Given the description of an element on the screen output the (x, y) to click on. 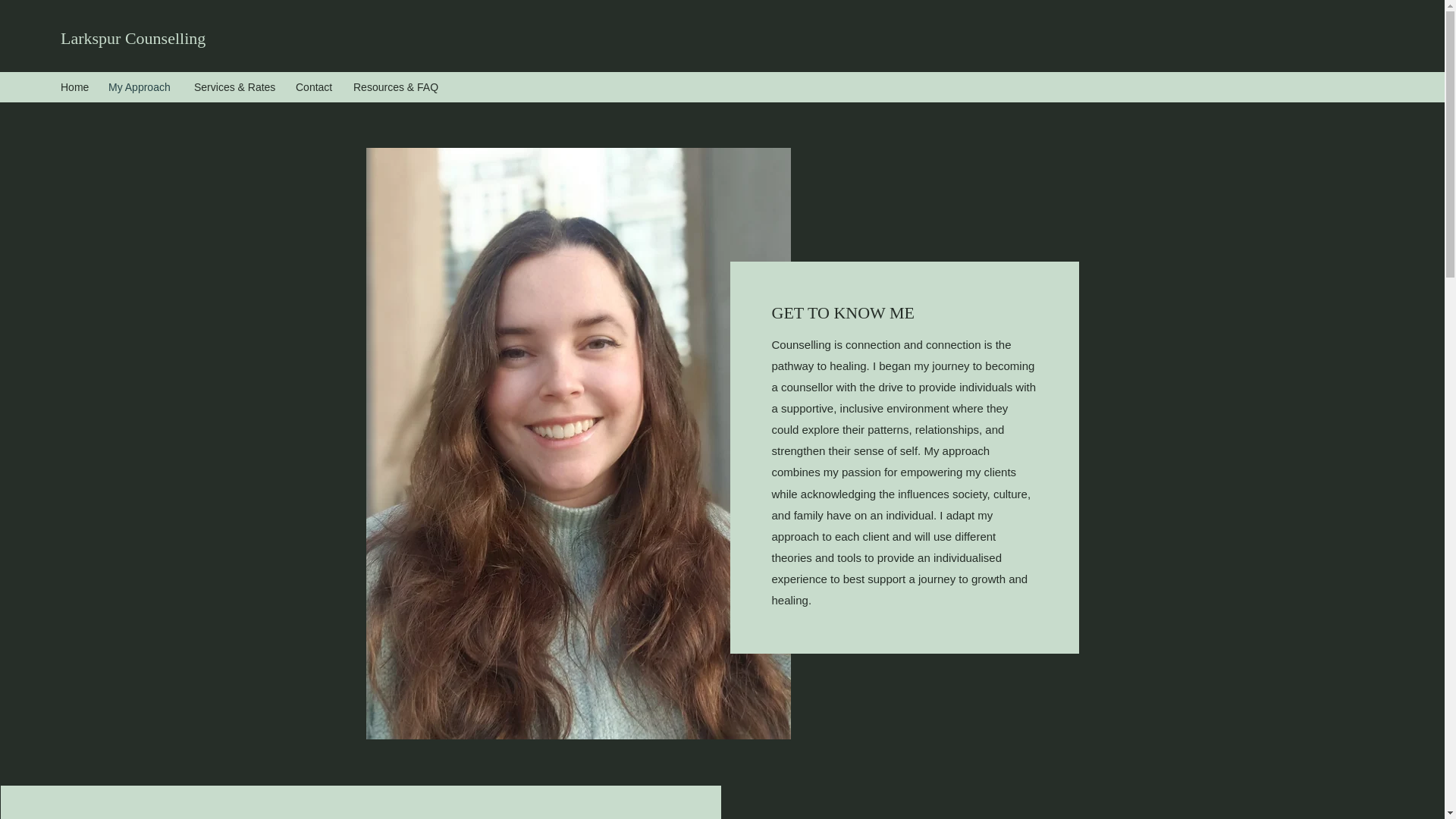
Contact (317, 87)
My Approach (143, 87)
Home (76, 87)
